Given the description of an element on the screen output the (x, y) to click on. 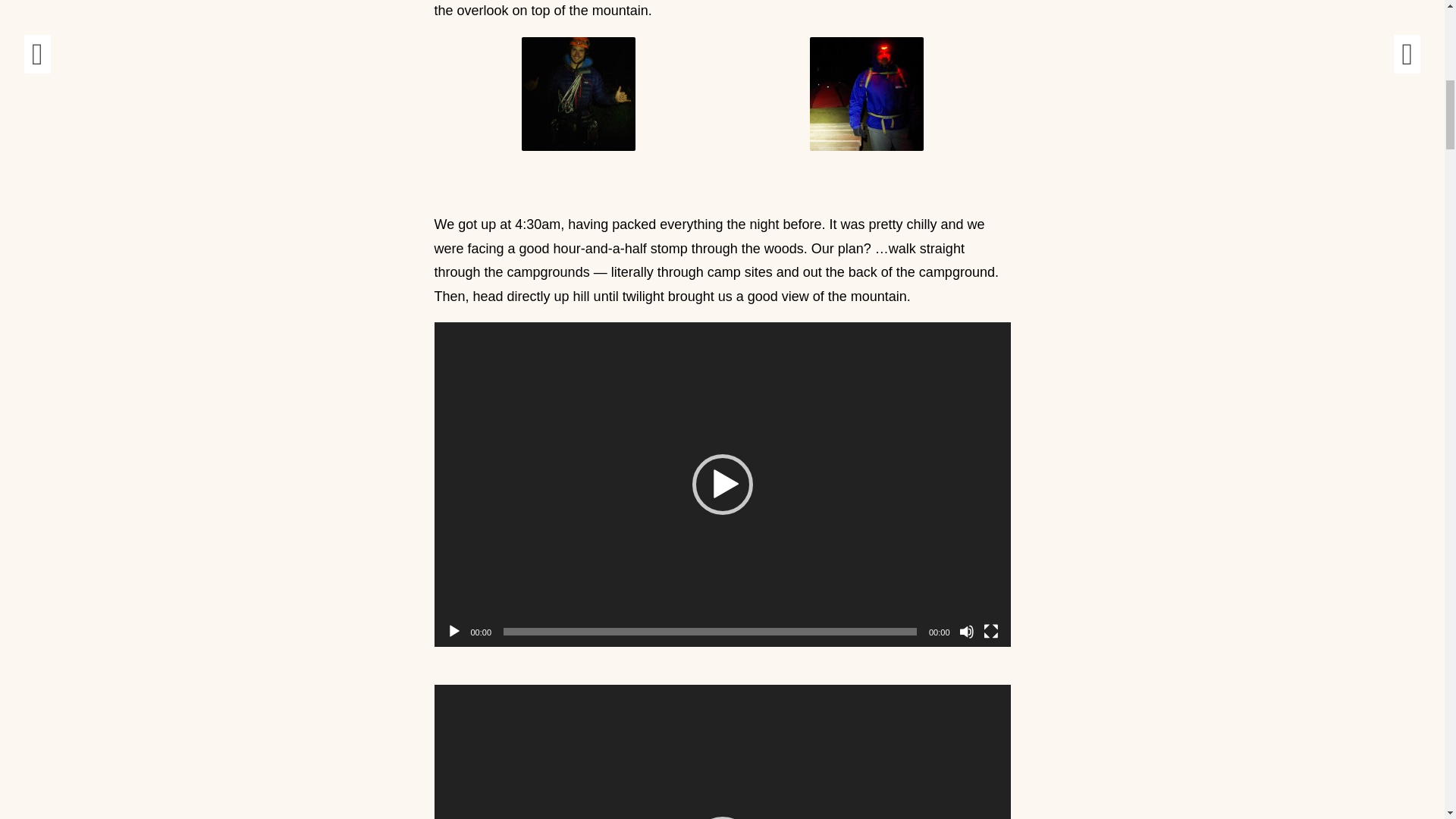
Fullscreen (989, 631)
Mute (966, 631)
Play (453, 631)
